Given the description of an element on the screen output the (x, y) to click on. 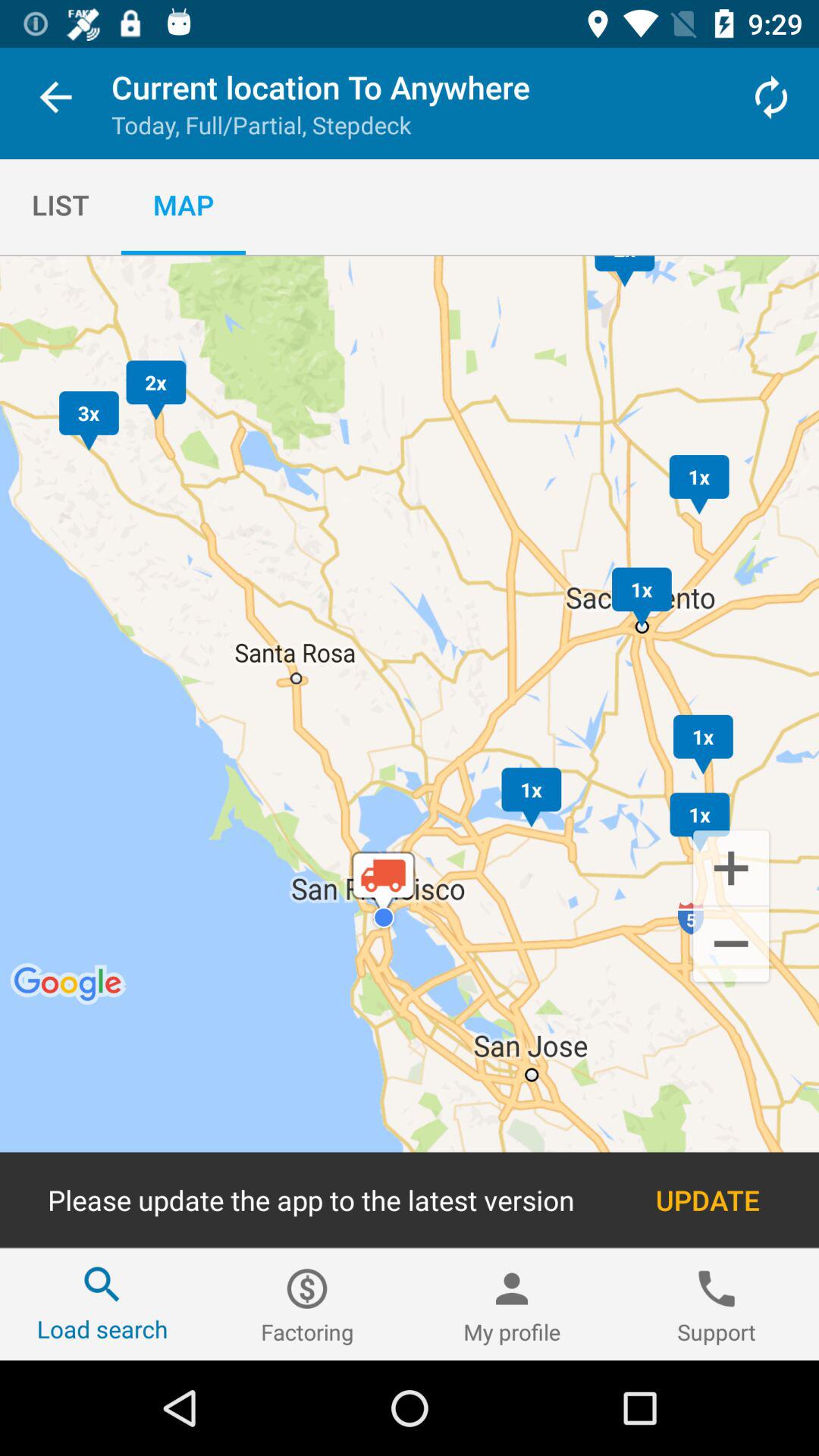
choose item above list item (55, 99)
